Given the description of an element on the screen output the (x, y) to click on. 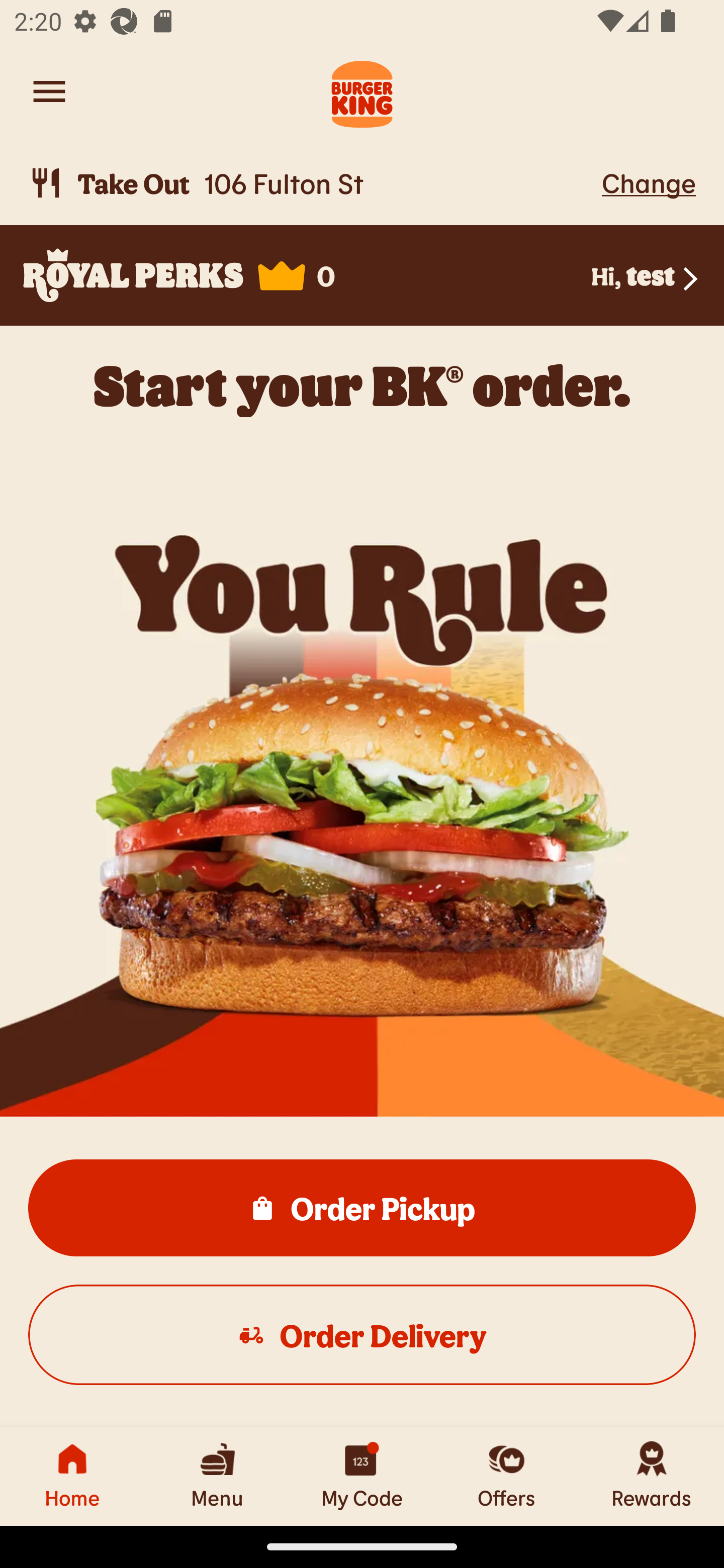
Burger King Logo. Navigate to Home (362, 91)
Navigate to account menu  (49, 91)
Take Out, 106 Fulton St  Take Out 106 Fulton St (311, 183)
Change (648, 182)
Start your BK® order. (361, 385)
, Order Pickup  Order Pickup (361, 1206)
, Order Delivery  Order Delivery (361, 1334)
Home (72, 1475)
Menu (216, 1475)
My Code (361, 1475)
Offers (506, 1475)
Rewards (651, 1475)
